Given the description of an element on the screen output the (x, y) to click on. 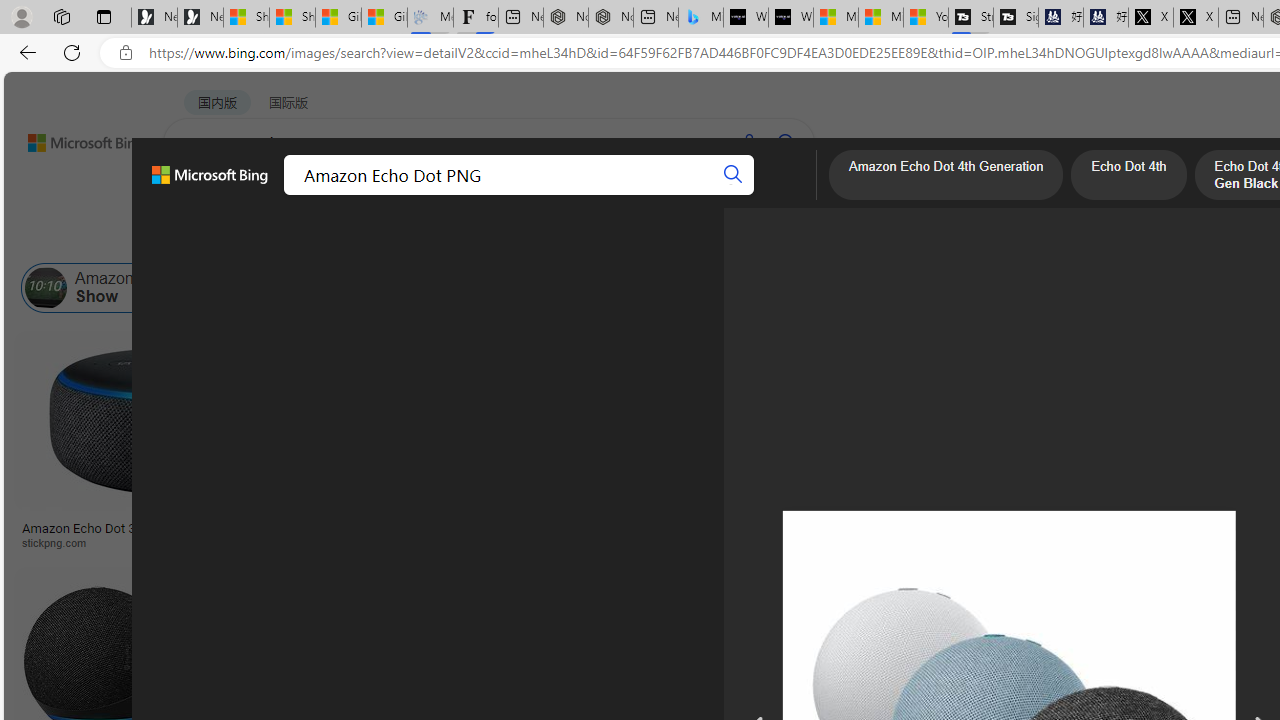
Amazon Echo Dot with Clock (786, 287)
IMAGES (274, 195)
VIDEOS (458, 195)
Amazon Echo 2nd Generation (999, 287)
stickpng.com (1190, 542)
Class: item col (1070, 287)
Smart Speaker Alexa Echo Dot (995, 521)
Amazon Echo Dot 3rd (575, 287)
Search button (786, 142)
